Given the description of an element on the screen output the (x, y) to click on. 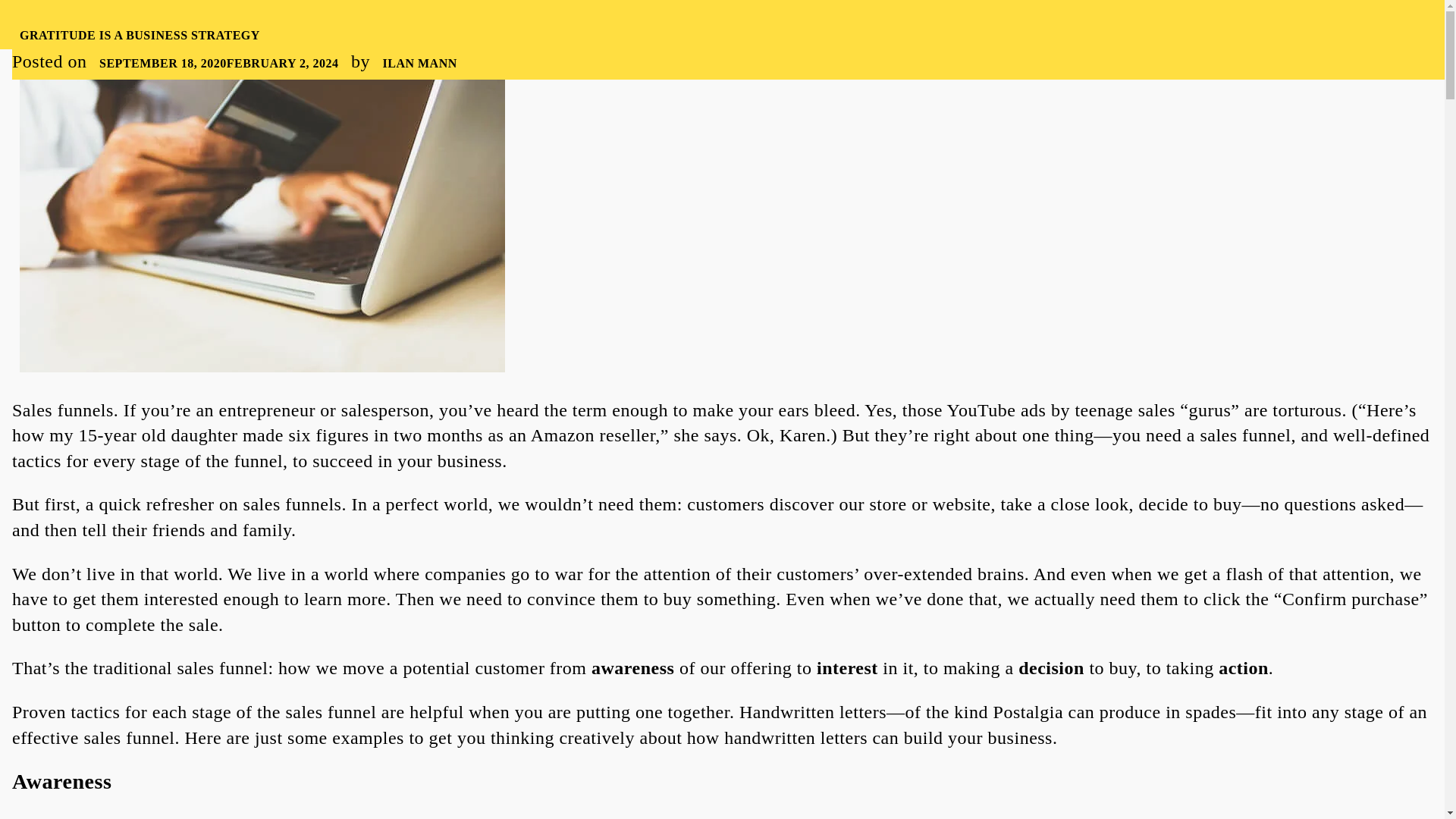
SEPTEMBER 24, 2020FEBRUARY 2, 2024 (218, 62)
EXAMPLES (874, 24)
CONTACT US (1221, 24)
ILAN MANN (419, 62)
BLOG (1023, 24)
GET STARTED (1340, 22)
PRICING (957, 24)
GRATITUDE IS A BUSINESS STRATEGY (139, 34)
